Given the description of an element on the screen output the (x, y) to click on. 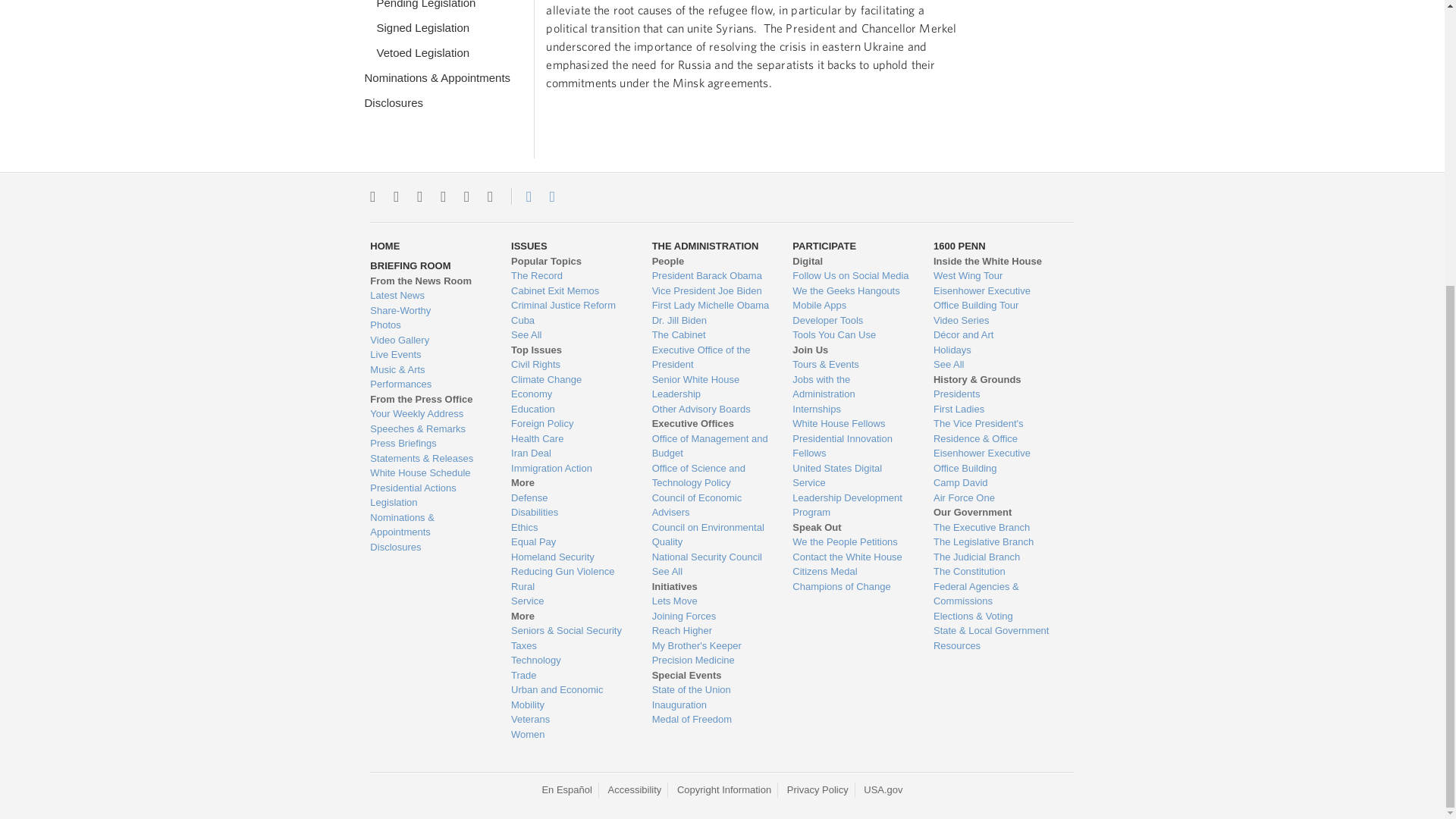
Visit The Whitehouse Channel on Youtube. (466, 196)
See the Whitehouse on Instagram. (395, 196)
Contact the Whitehouse. (521, 196)
Follow the Whitehouse on Twitter. (372, 196)
More ways to engage with the Whitehouse. (490, 196)
Read the latest blog posts from 1600 Pennsylvania Ave (428, 295)
Email the Whitehouse. (552, 196)
Like the Whitehouse on Facebook. (419, 196)
